Given the description of an element on the screen output the (x, y) to click on. 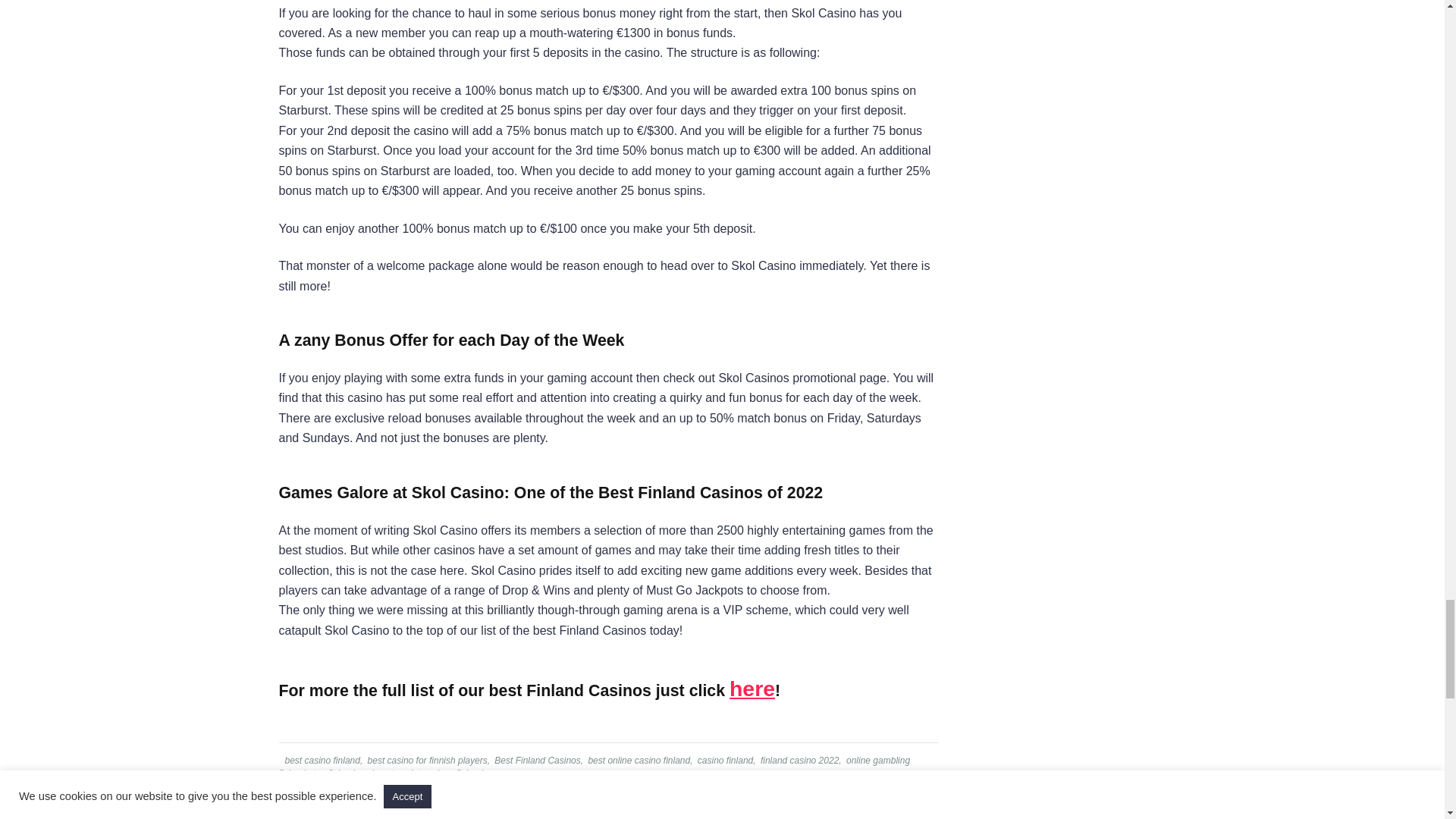
best casino finland (320, 760)
top slot casinos finland (435, 773)
top finland casino (347, 773)
best casino for finnish players (426, 760)
here (751, 688)
finland casino 2022 (798, 760)
casino finland (723, 760)
Best Finland Casinos (535, 760)
online gambling finland (595, 766)
best online casino finland (637, 760)
